Given the description of an element on the screen output the (x, y) to click on. 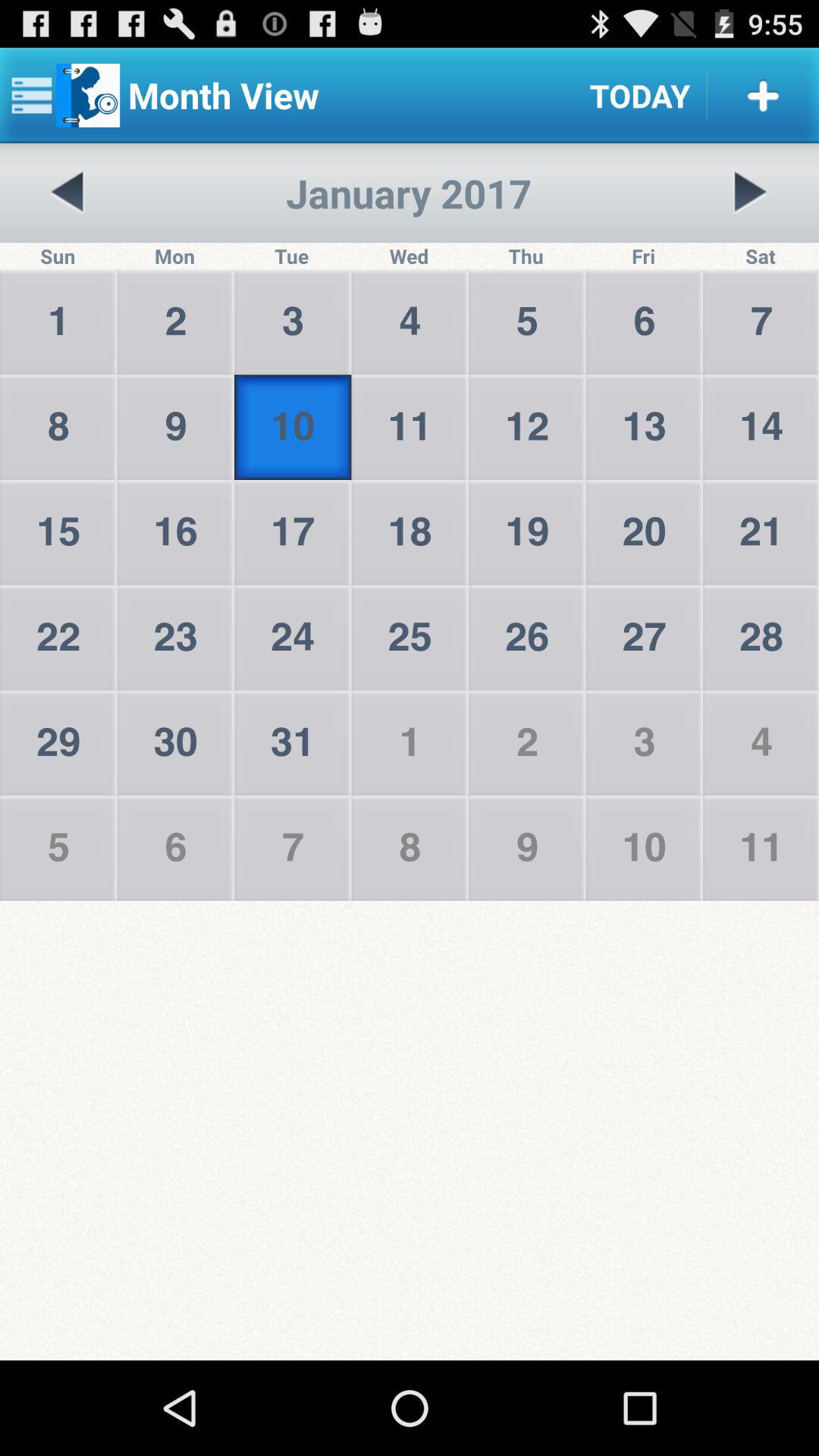
next page (750, 192)
